Given the description of an element on the screen output the (x, y) to click on. 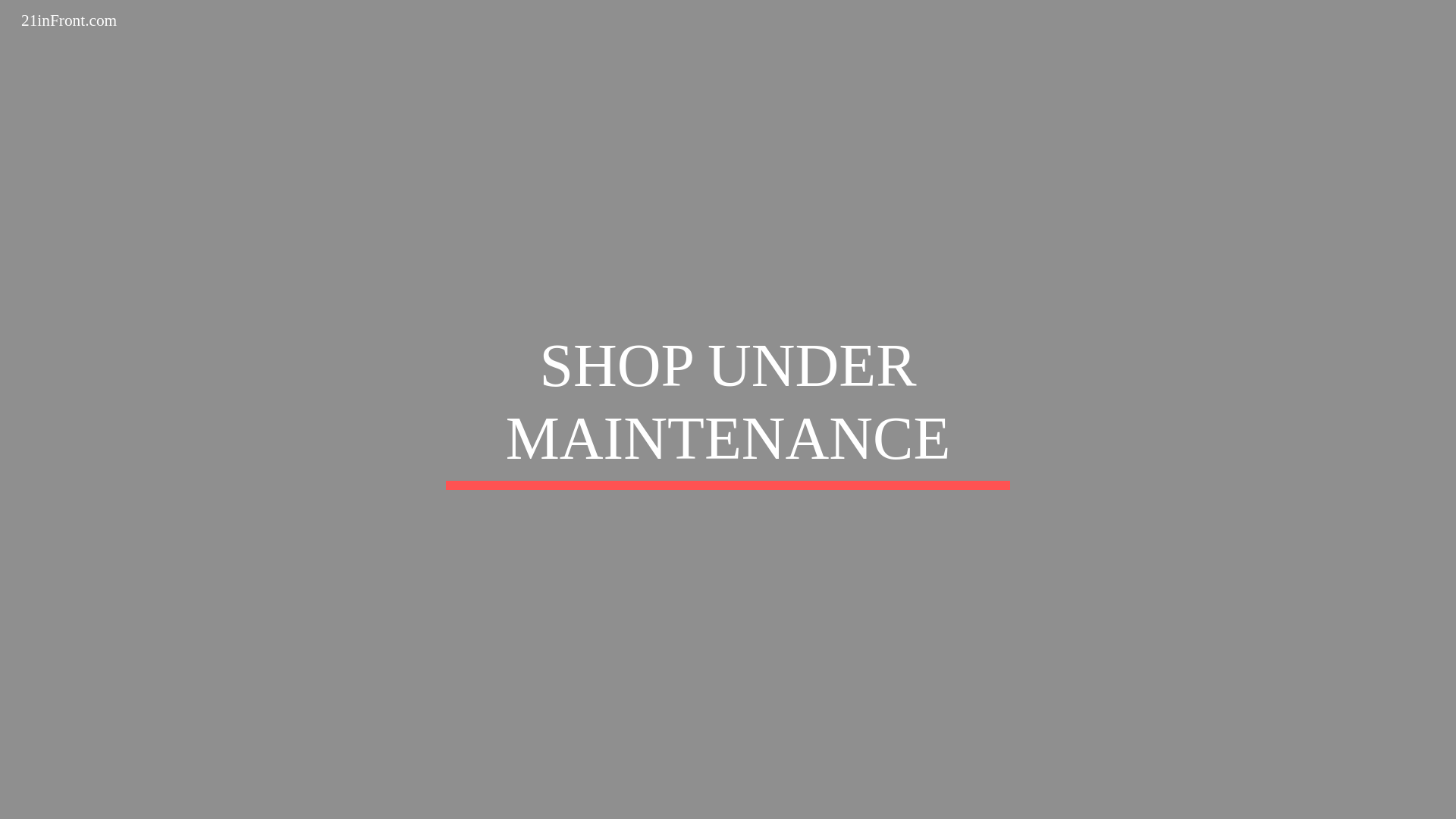
21inFront.com Element type: text (68, 19)
